Given the description of an element on the screen output the (x, y) to click on. 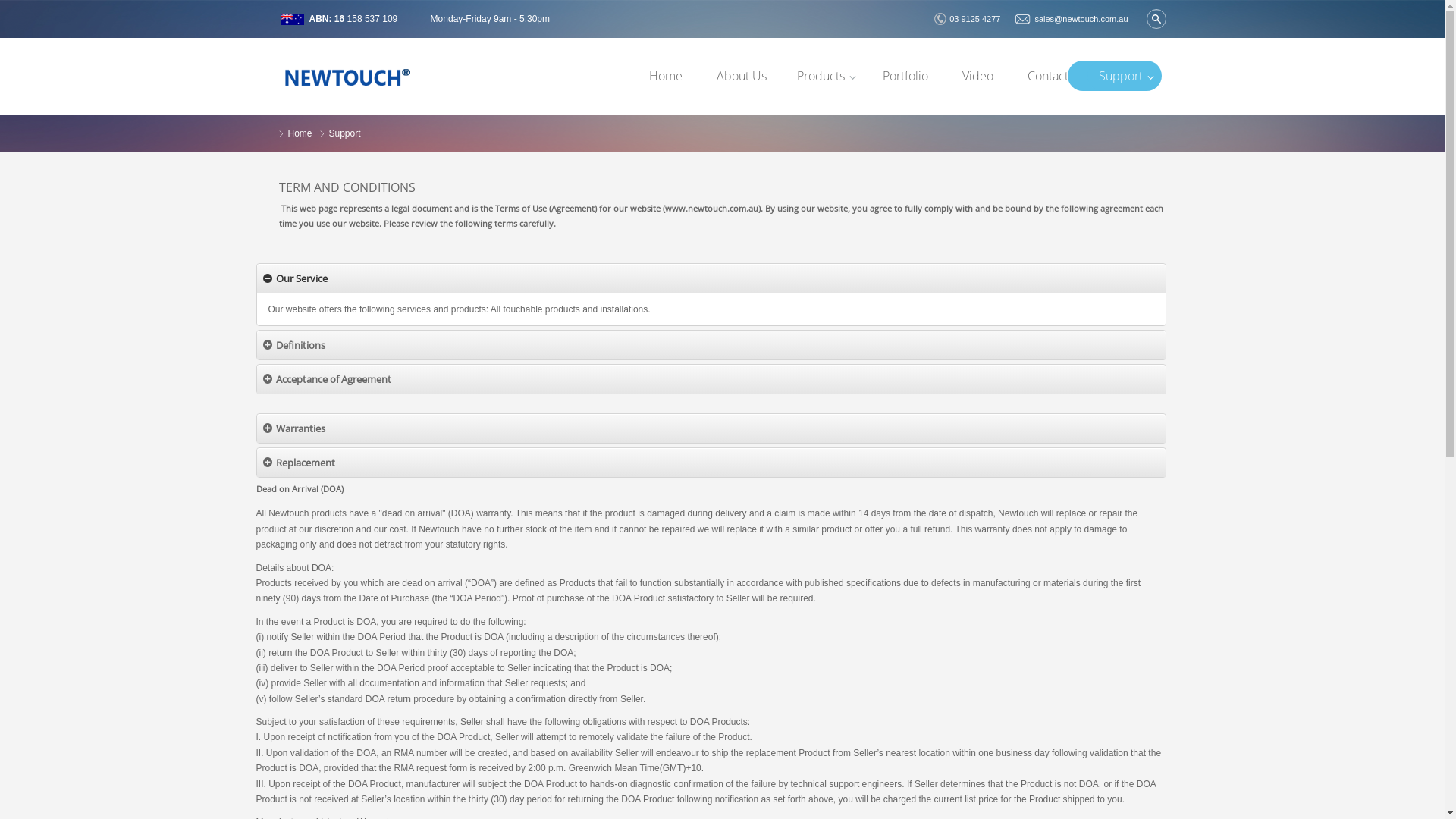
Portfolio Element type: text (905, 75)
Products Element type: text (824, 75)
Search Element type: text (1155, 18)
TERM AND CONDITIONS Element type: text (347, 186)
03 9125 4277 Element type: text (967, 18)
About Us Element type: text (741, 75)
sales@newtouch.com.au Element type: text (1071, 18)
Home Element type: text (300, 133)
Support Element type: text (1124, 75)
Video Element type: text (977, 75)
Contact Element type: text (1047, 75)
Home Element type: text (665, 75)
